Given the description of an element on the screen output the (x, y) to click on. 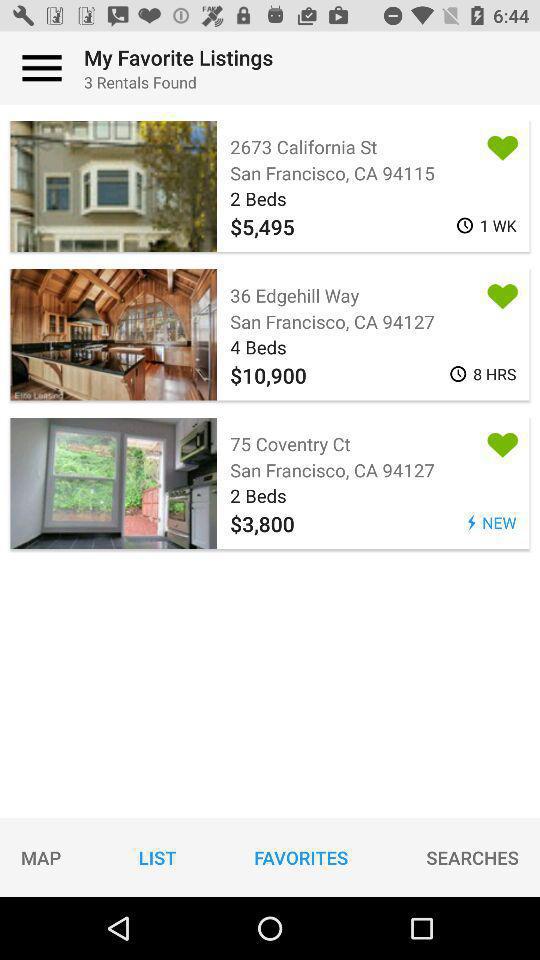
press the item to the right of the favorites icon (472, 857)
